Given the description of an element on the screen output the (x, y) to click on. 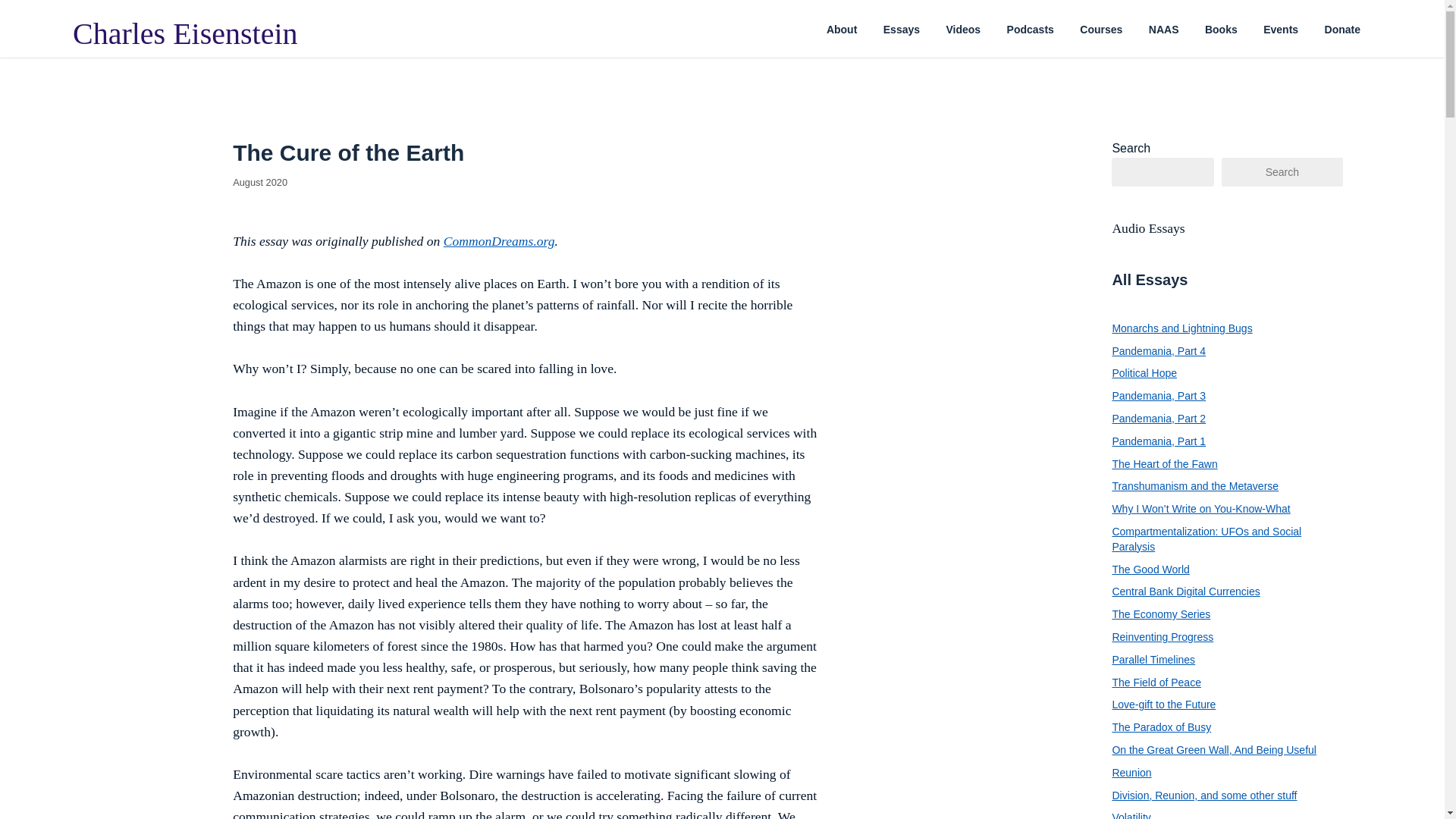
About (841, 29)
NAAS (1164, 29)
Essays (901, 29)
Courses (1101, 29)
Events (1280, 29)
CommonDreams.org (499, 240)
Books (1221, 29)
Podcasts (1030, 29)
Donate (1342, 29)
